Given the description of an element on the screen output the (x, y) to click on. 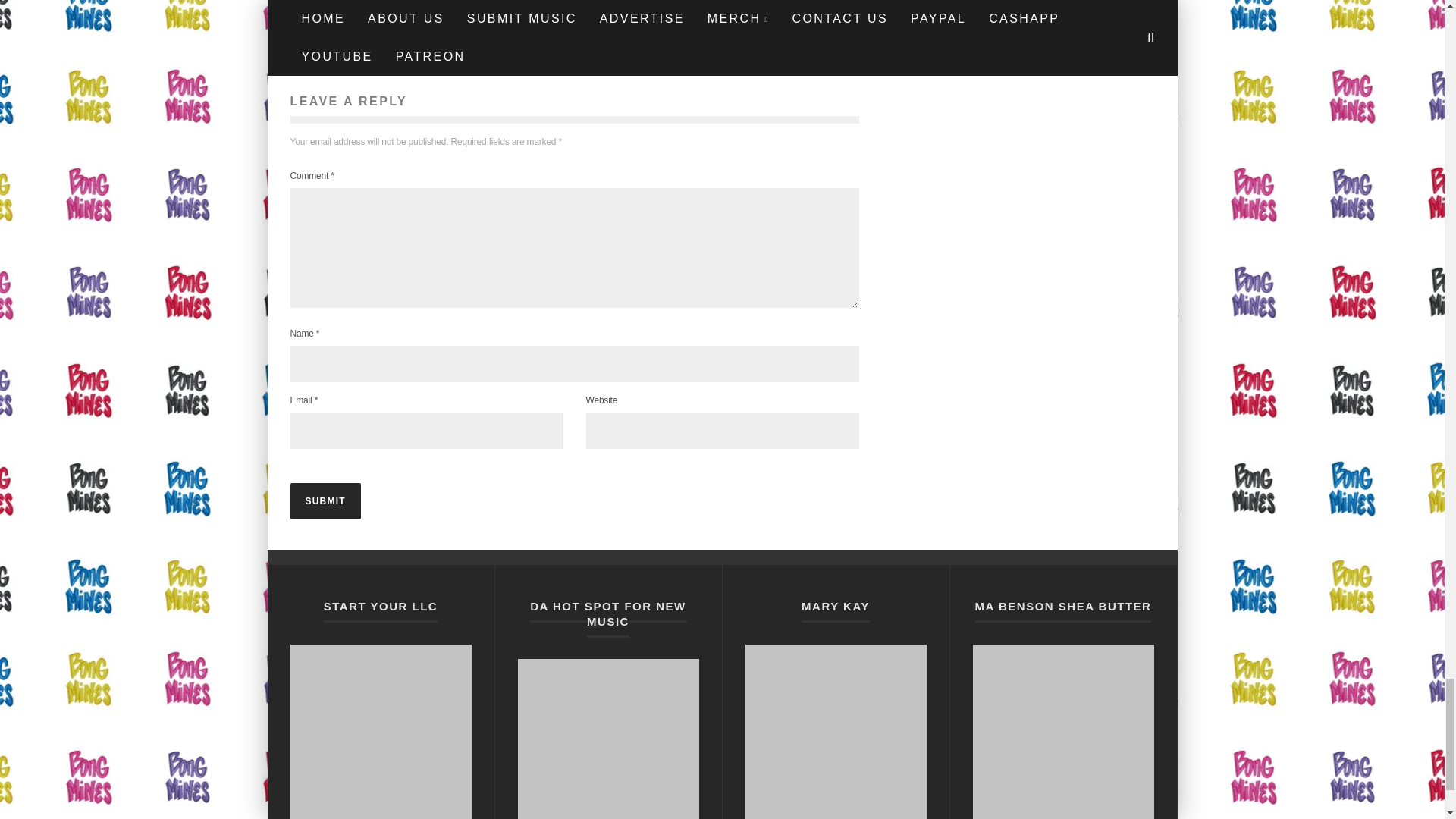
Take a Look... Audiobook (835, 731)
Ma Benson Shea BUtter (1062, 731)
Submit (324, 501)
Pineapple In da SUN Spotify playlist (379, 731)
